Given the description of an element on the screen output the (x, y) to click on. 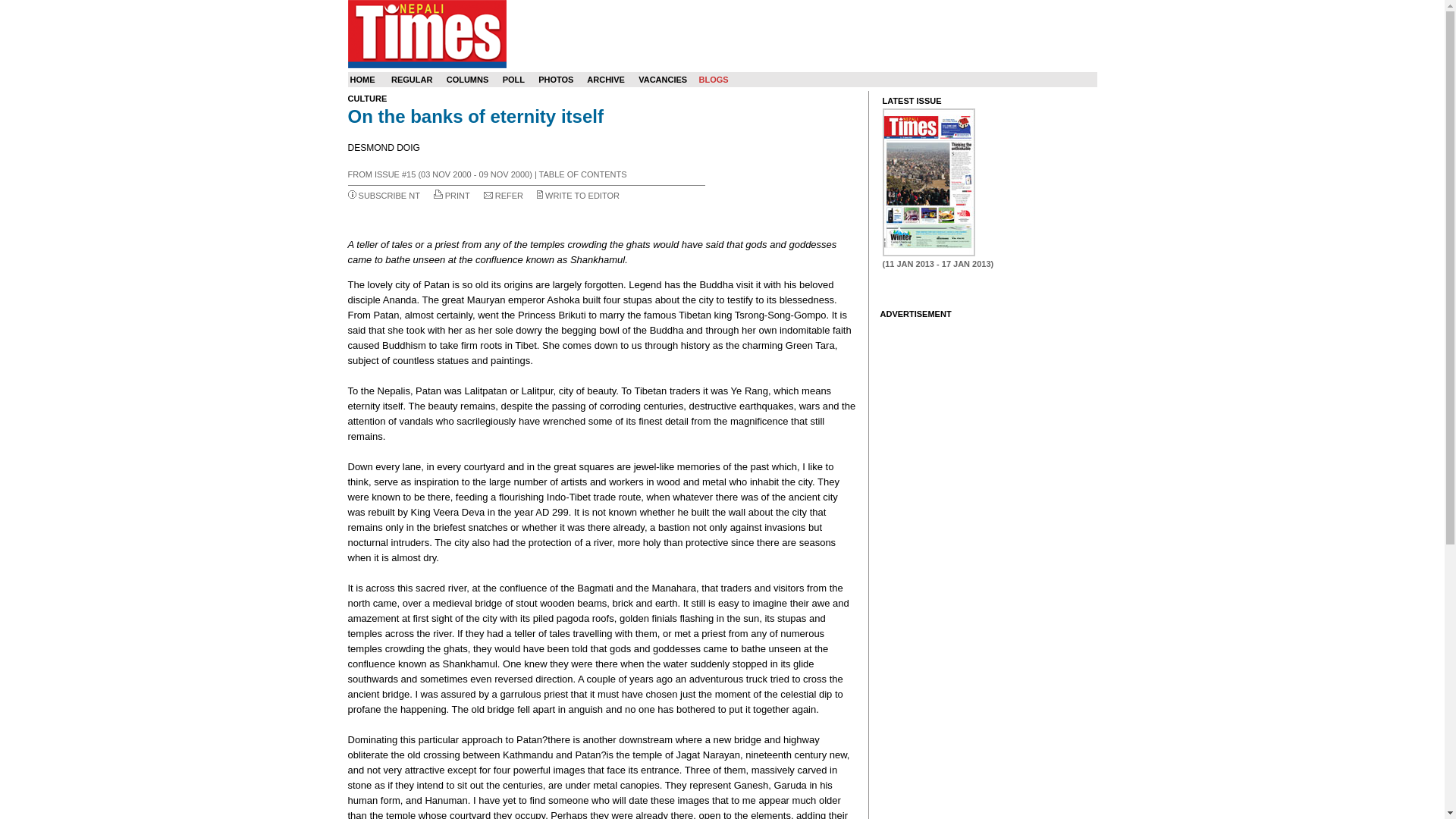
BLOGS (713, 79)
POLL (513, 79)
PRINT (458, 194)
SUBSCRIBE NT (389, 194)
TABLE OF CONTENTS (582, 174)
COLUMNS (467, 79)
HOME (362, 79)
REFER (508, 194)
ARCHIVE (605, 79)
Nepali Times (426, 33)
VACANCIES (663, 79)
REGULAR (411, 79)
WRITE TO EDITOR (582, 194)
PHOTOS (555, 79)
